Given the description of an element on the screen output the (x, y) to click on. 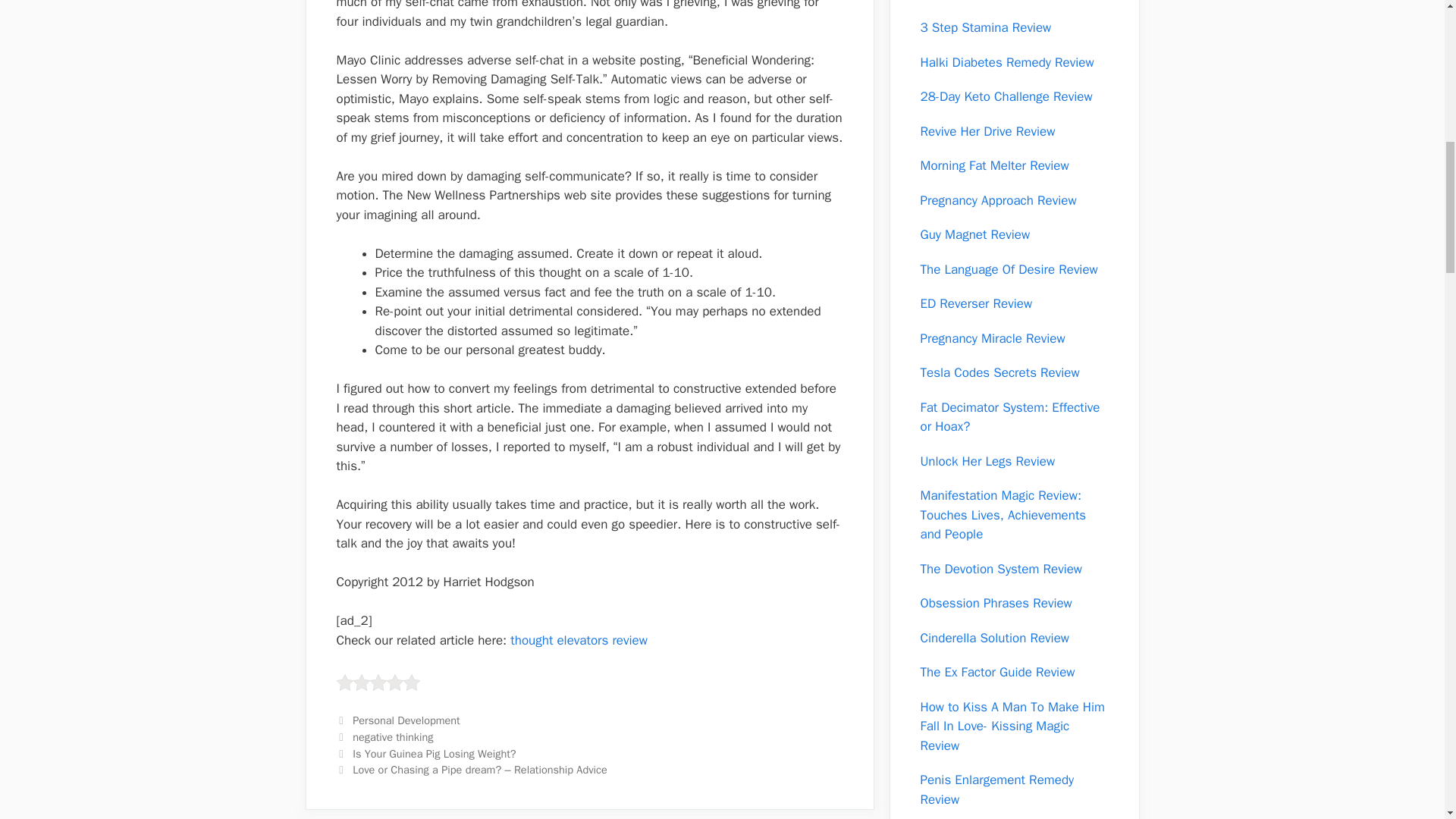
Next (471, 769)
negative thinking (392, 736)
Previous (426, 753)
Is Your Guinea Pig Losing Weight? (433, 753)
thought elevators review (579, 640)
Personal Development (406, 720)
